Given the description of an element on the screen output the (x, y) to click on. 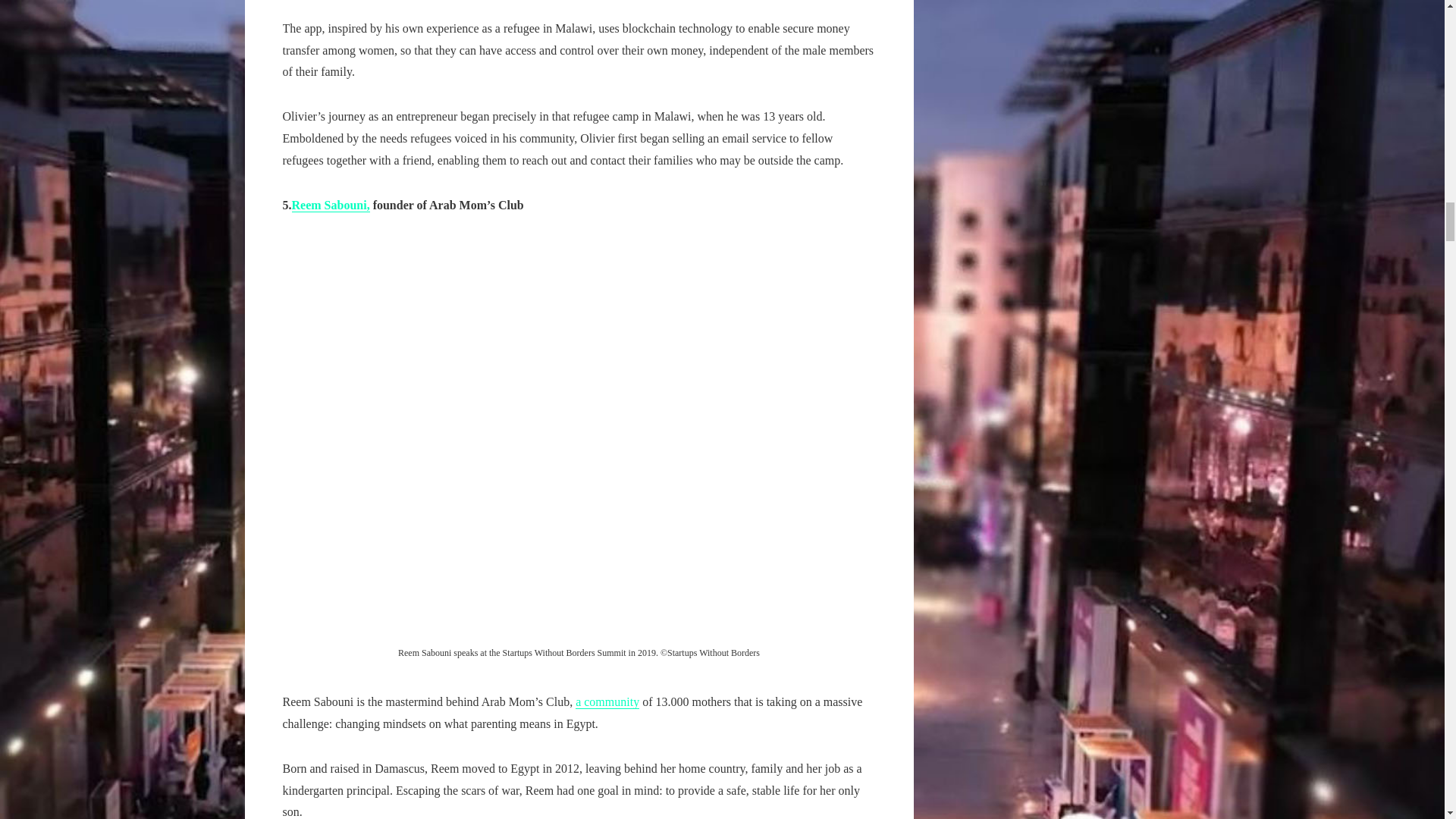
Reem Sabouni, (330, 205)
a community (607, 702)
